Given the description of an element on the screen output the (x, y) to click on. 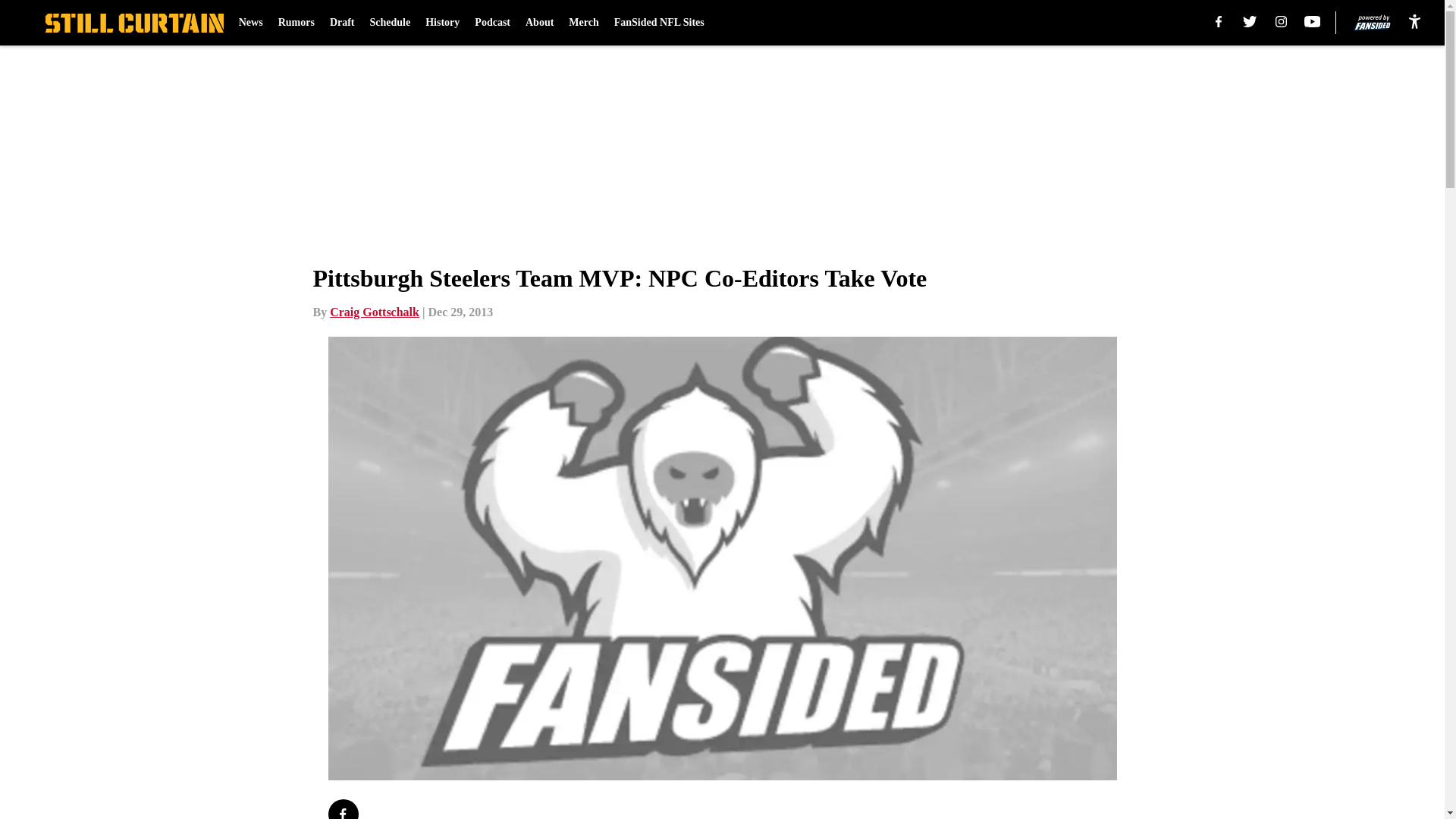
Rumors (296, 22)
Merch (583, 22)
Podcast (492, 22)
News (250, 22)
Craig Gottschalk (374, 311)
Draft (342, 22)
History (442, 22)
About (539, 22)
FanSided NFL Sites (659, 22)
Schedule (389, 22)
